Given the description of an element on the screen output the (x, y) to click on. 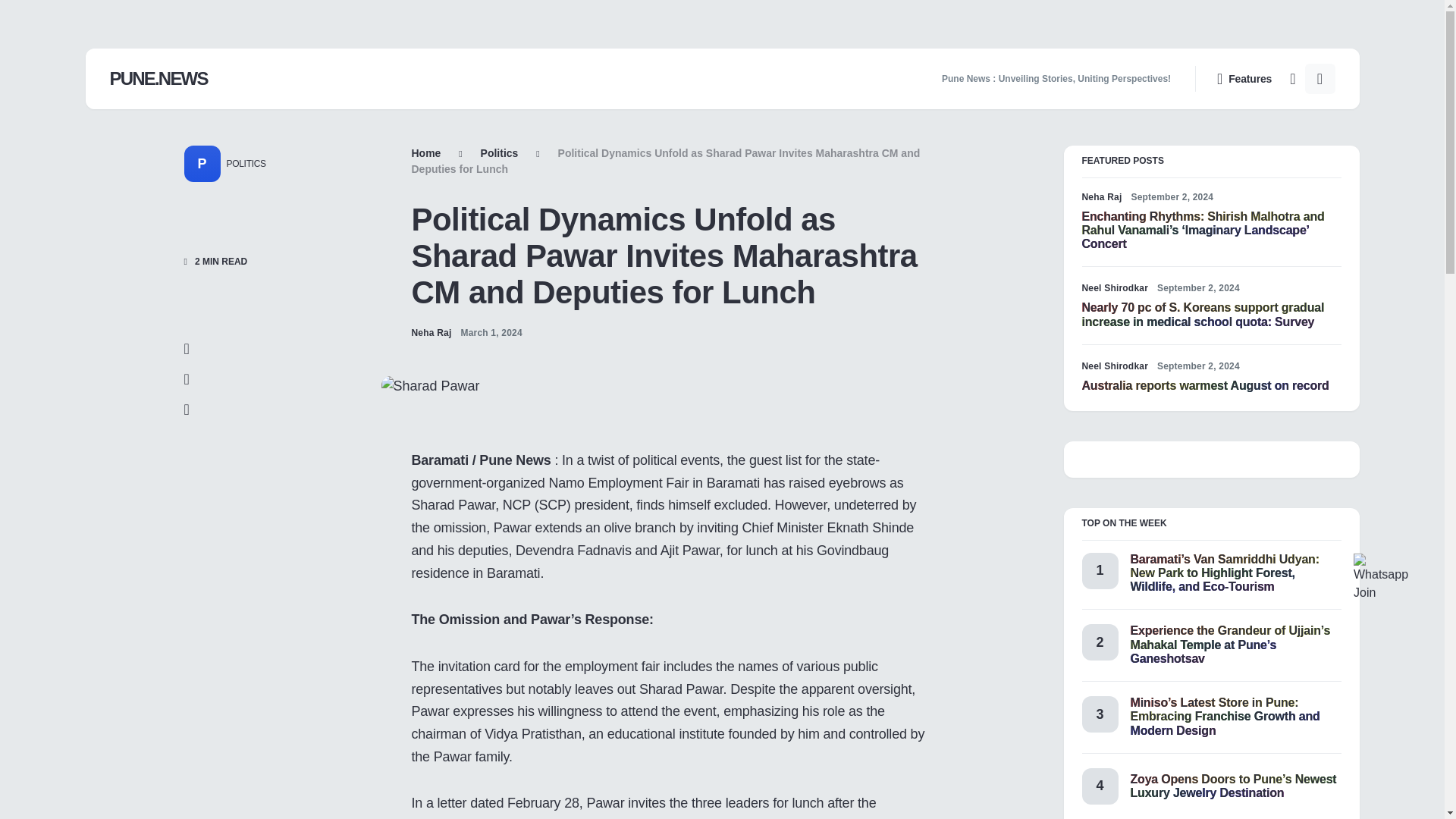
View all posts by Neel Shirodkar (1114, 366)
Neha Raj (1101, 196)
Politics (499, 152)
View all posts by Neha Raj (1101, 196)
P (201, 163)
PUNE.NEWS (157, 78)
View all posts by Neel Shirodkar (1114, 287)
View all posts by Neha Raj (430, 332)
POLITICS (241, 163)
